Given the description of an element on the screen output the (x, y) to click on. 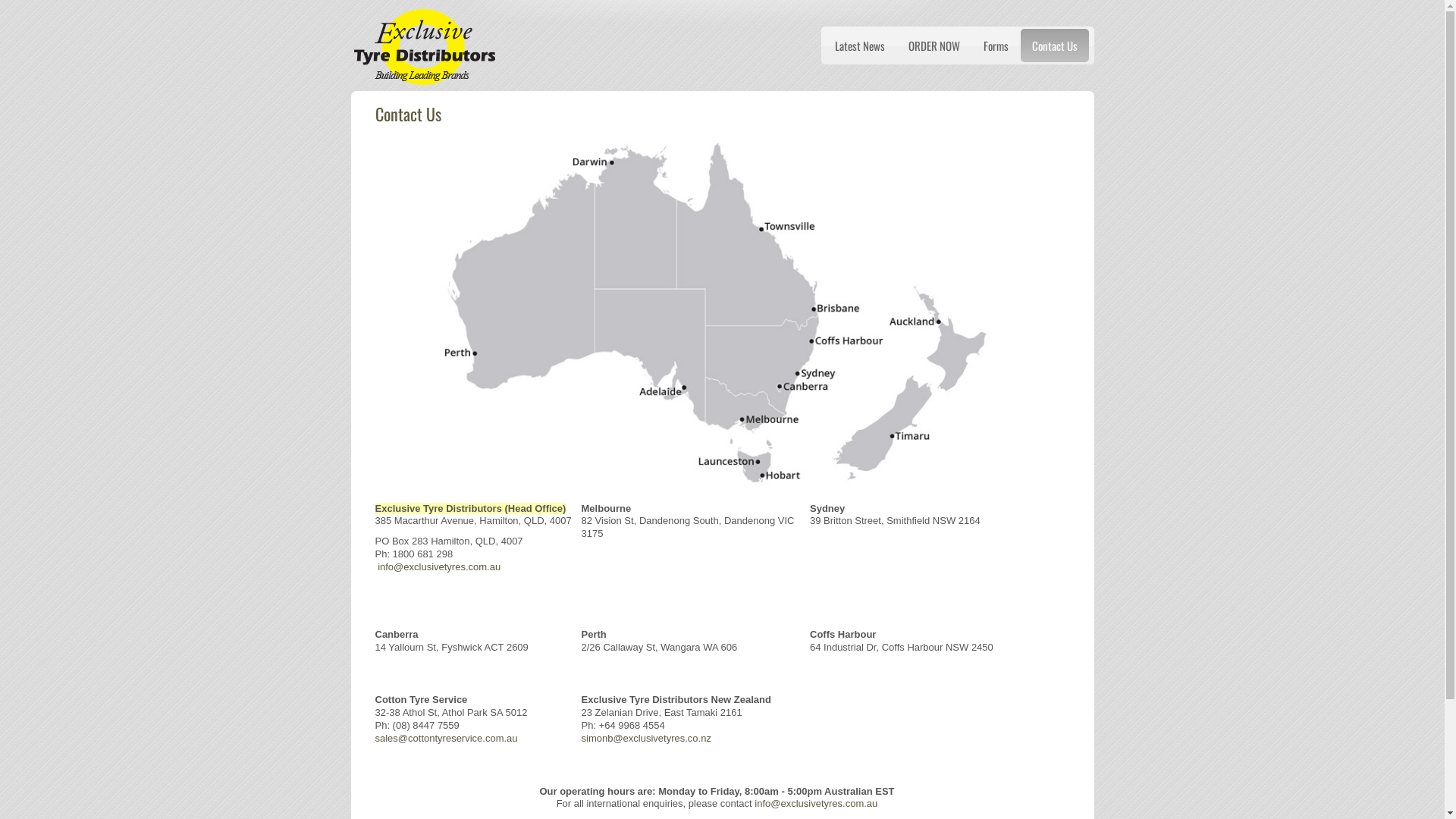
Contact Us Element type: text (1054, 45)
info@exclusivetyres.com.au Element type: text (438, 566)
Contact Us Element type: text (407, 113)
Latest News Element type: text (859, 45)
ORDER NOW Element type: text (933, 45)
info@exclusivetyres.com.au Element type: text (815, 803)
Forms Element type: text (995, 45)
sales@cottontyreservice.com.au Element type: text (445, 737)
simonb@exclusivetyres.co.nz Element type: text (646, 737)
